Given the description of an element on the screen output the (x, y) to click on. 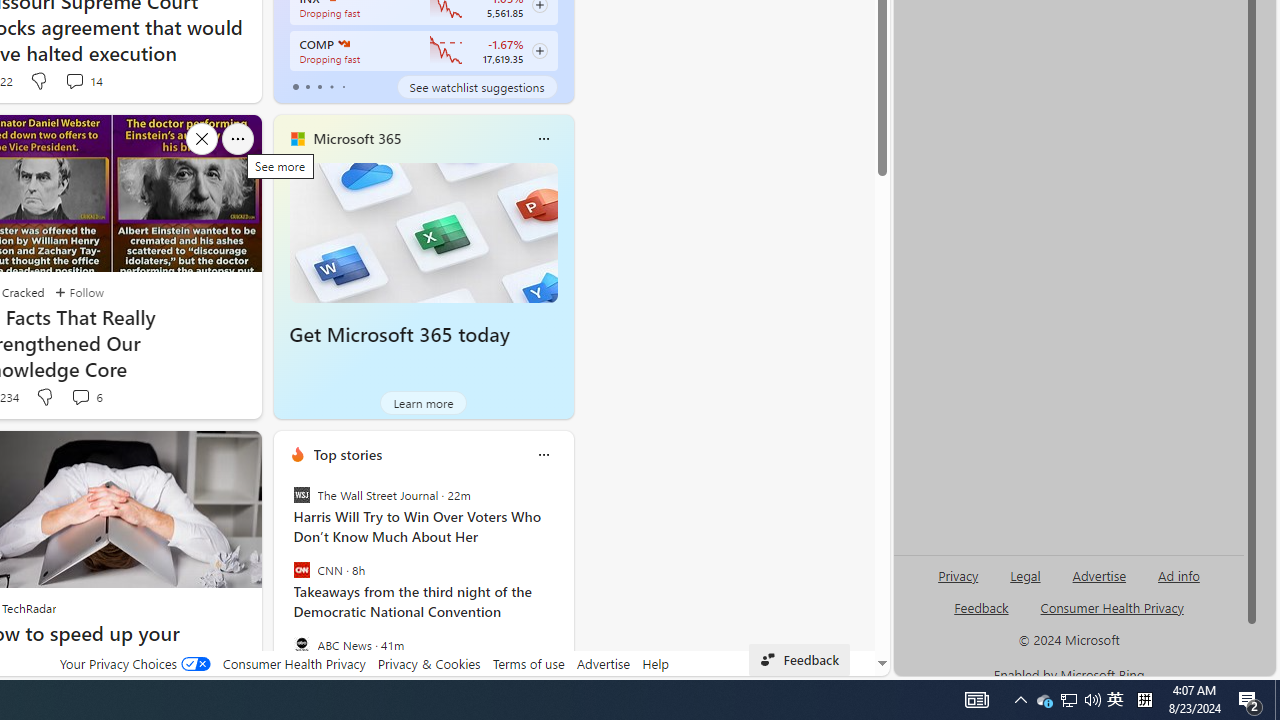
View comments 14 Comment (83, 80)
The Wall Street Journal (301, 494)
View comments 6 Comment (80, 396)
AutomationID: genId96 (981, 615)
tab-3 (331, 86)
AutomationID: sb_feedback (980, 607)
